Given the description of an element on the screen output the (x, y) to click on. 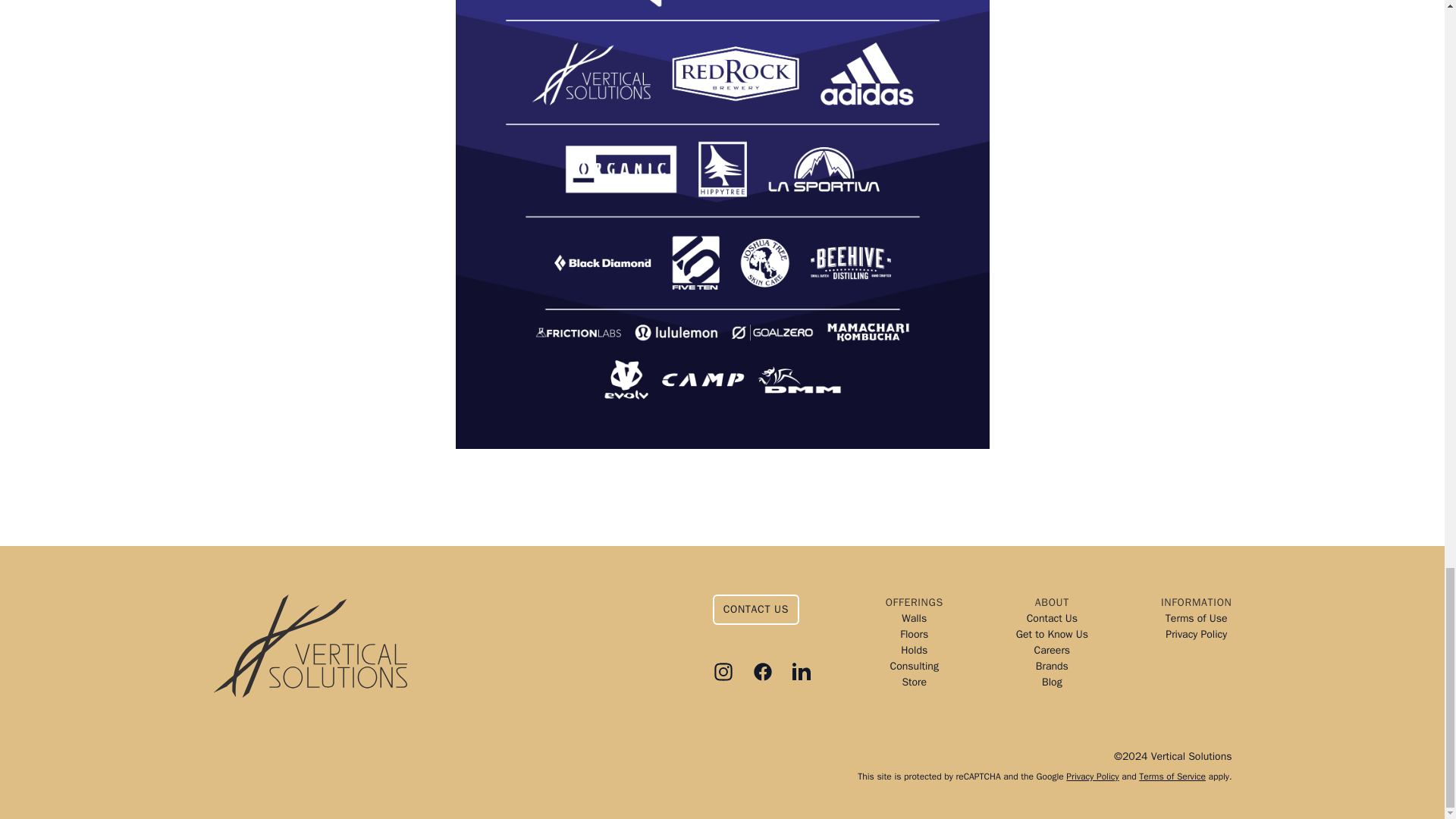
Floors (914, 634)
Consulting (914, 666)
CONTACT US (756, 609)
Walls (914, 618)
Holds (914, 650)
